Given the description of an element on the screen output the (x, y) to click on. 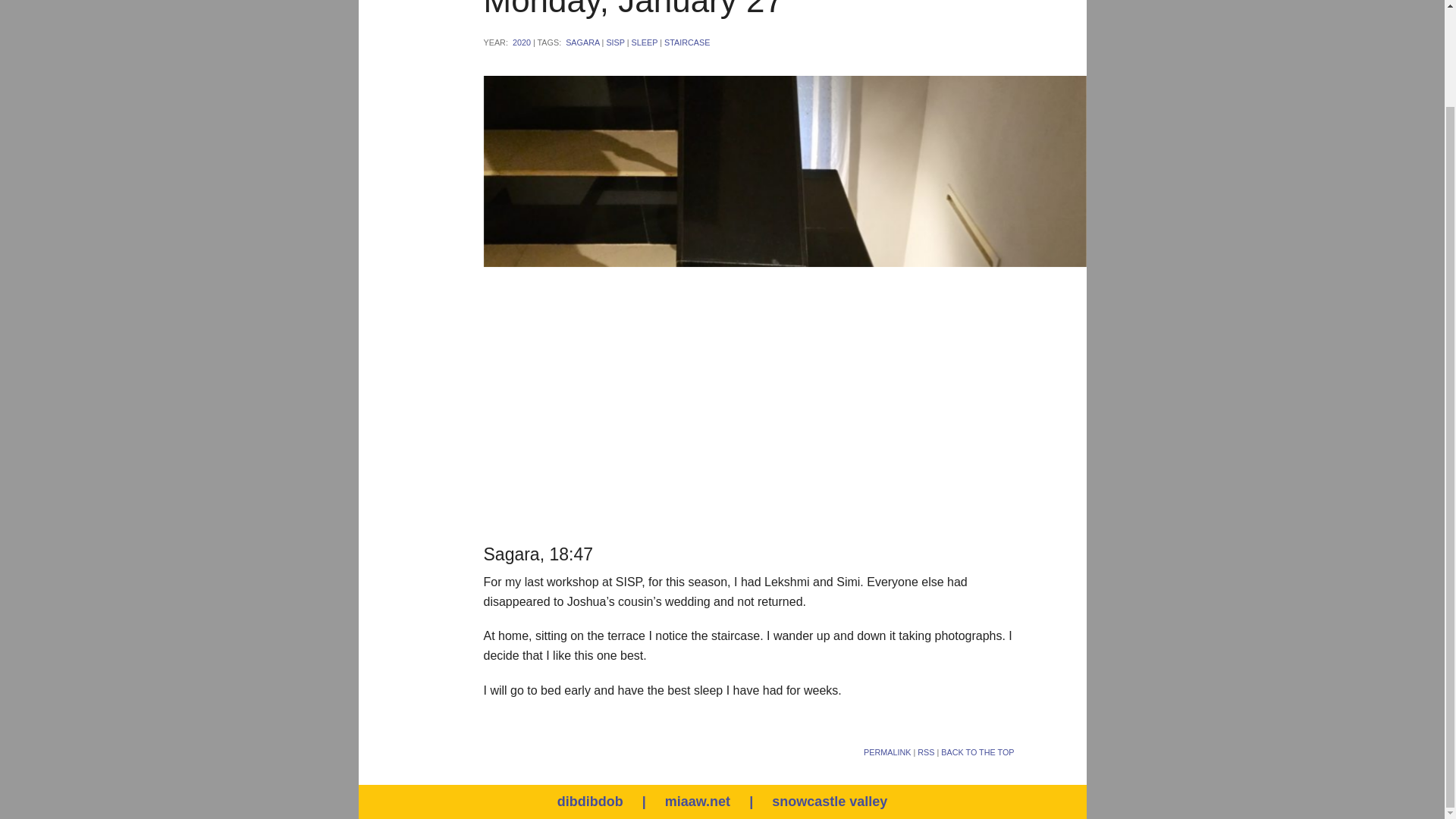
Projects (263, 69)
Notes (263, 34)
Essays (263, 8)
The Time of Day (263, 105)
Search (1148, 42)
